Given the description of an element on the screen output the (x, y) to click on. 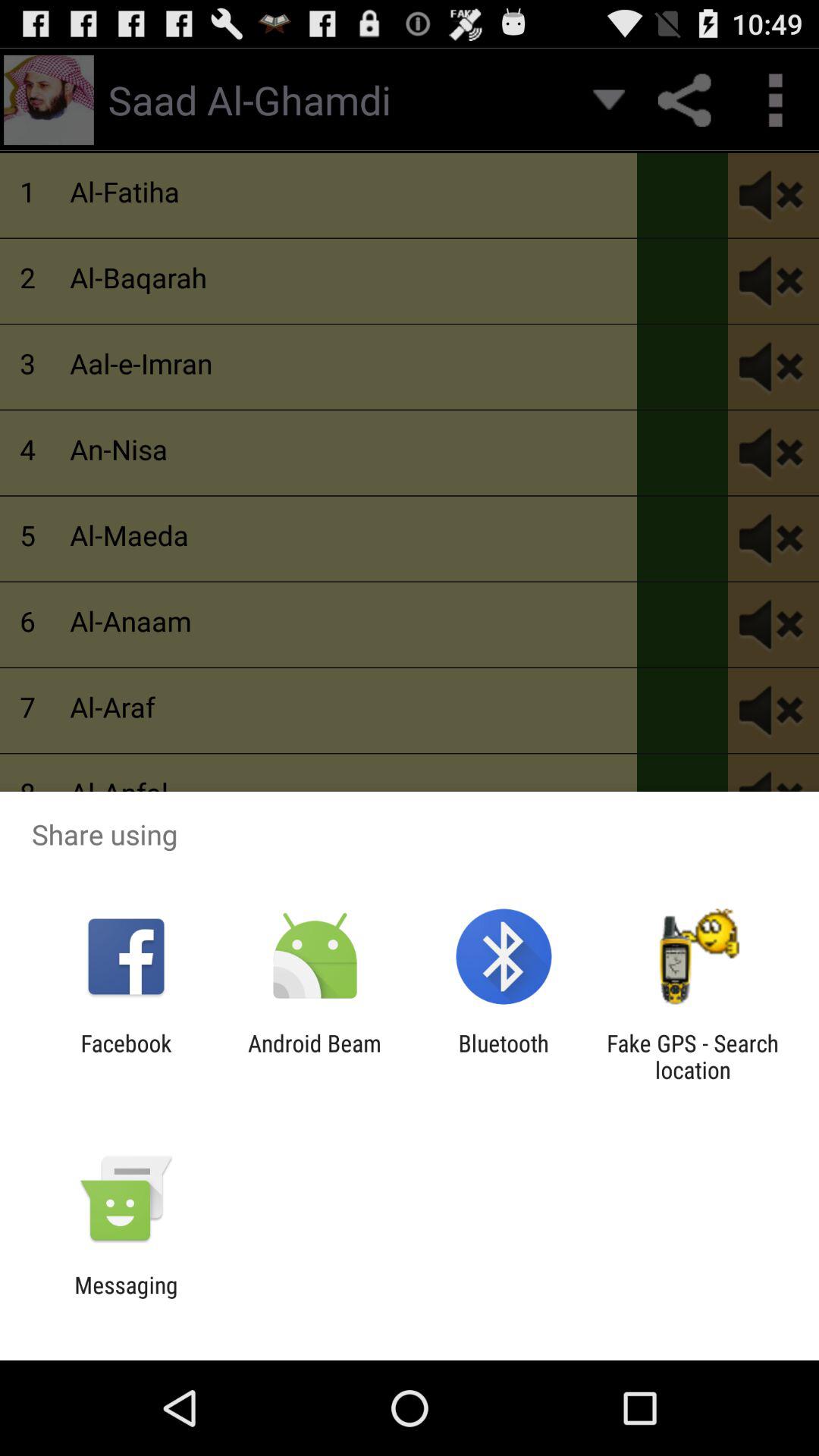
open the item next to the android beam (125, 1056)
